Given the description of an element on the screen output the (x, y) to click on. 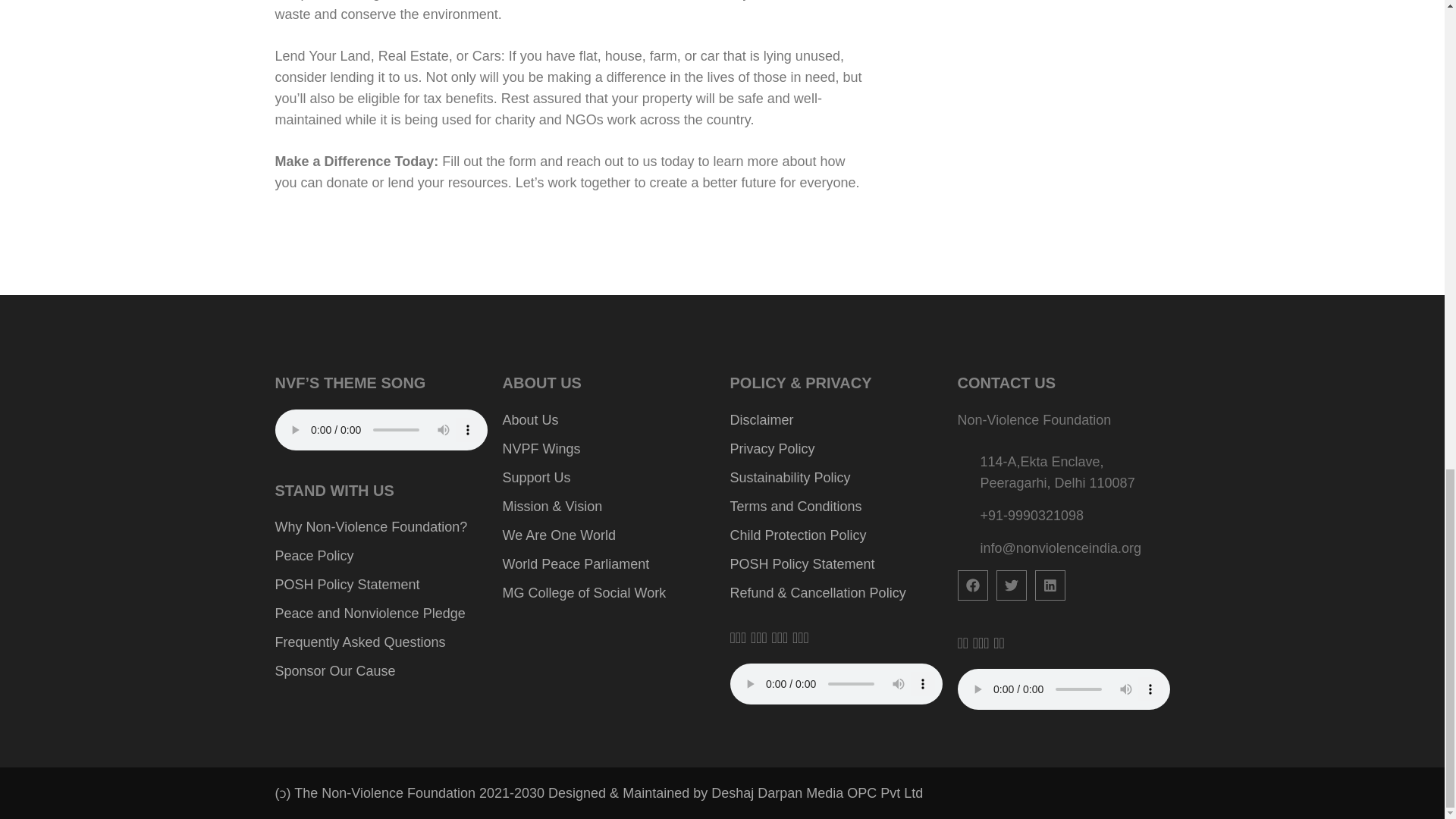
linkedin (1048, 585)
facebook (971, 585)
twitter (1010, 585)
